Given the description of an element on the screen output the (x, y) to click on. 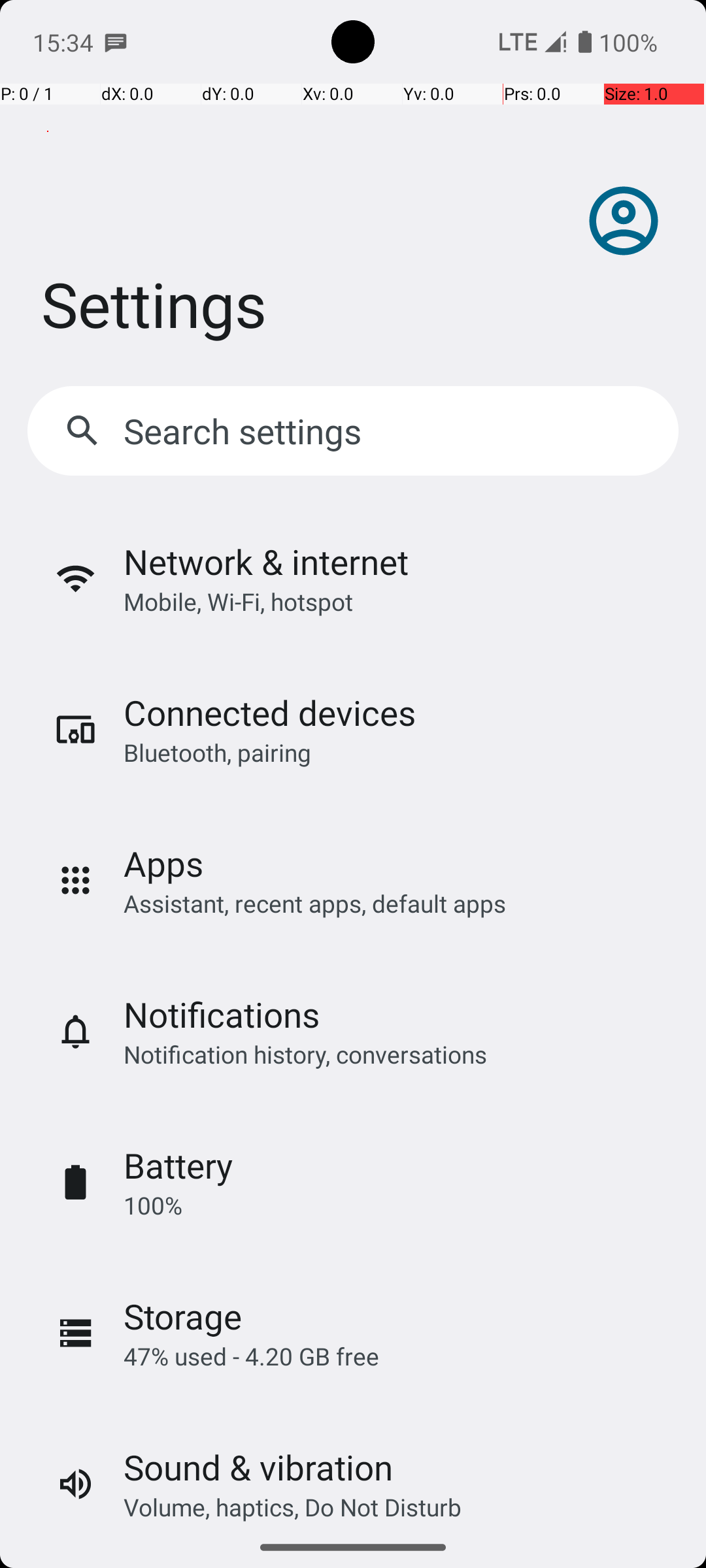
47% used - 4.20 GB free Element type: android.widget.TextView (251, 1355)
